Given the description of an element on the screen output the (x, y) to click on. 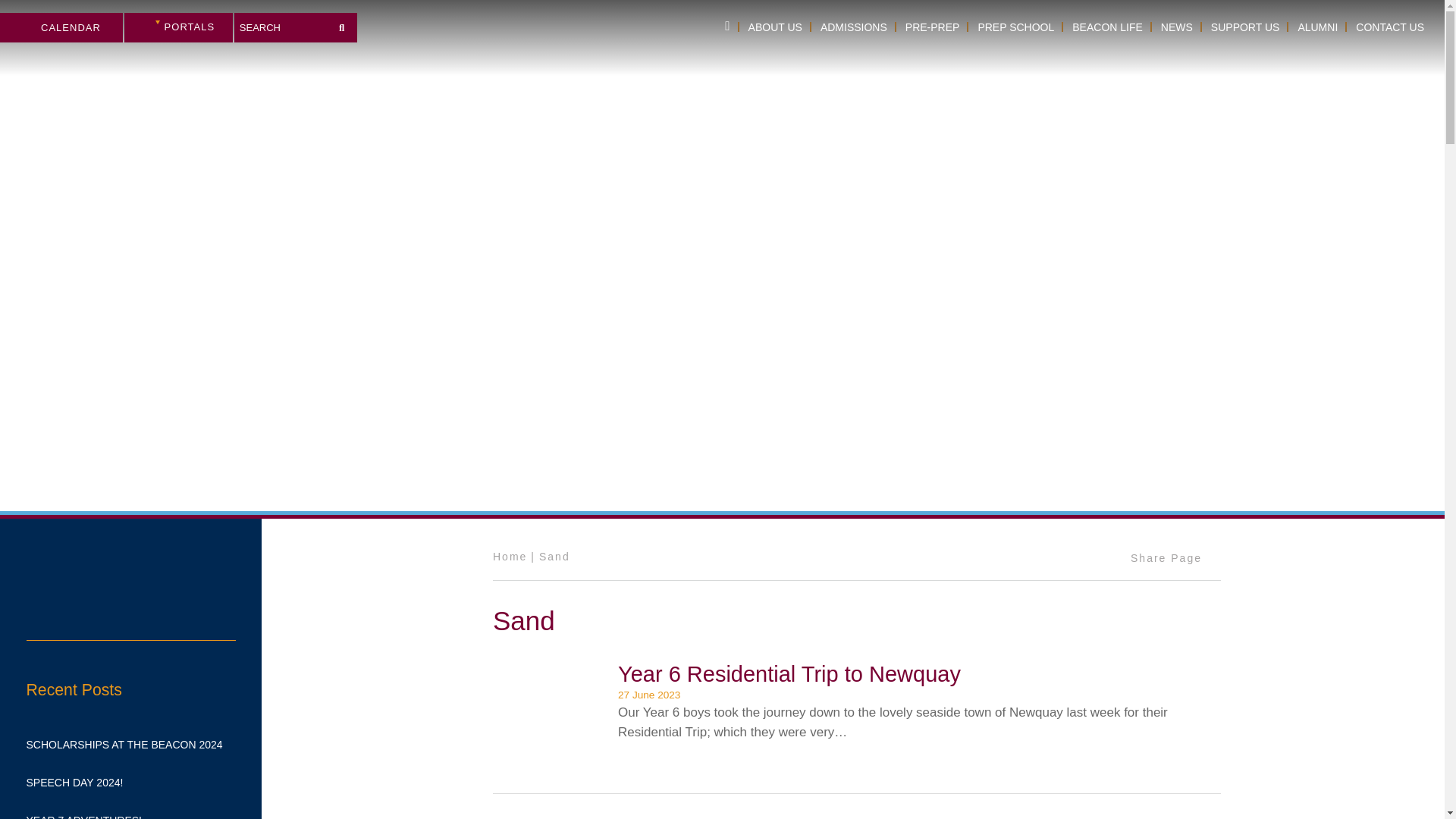
PRE-PREP (932, 27)
ADMISSIONS (853, 27)
CALENDAR (61, 27)
ABOUT US (775, 27)
HOME (727, 27)
Go to The Beacon School. (510, 556)
Search (341, 23)
